Given the description of an element on the screen output the (x, y) to click on. 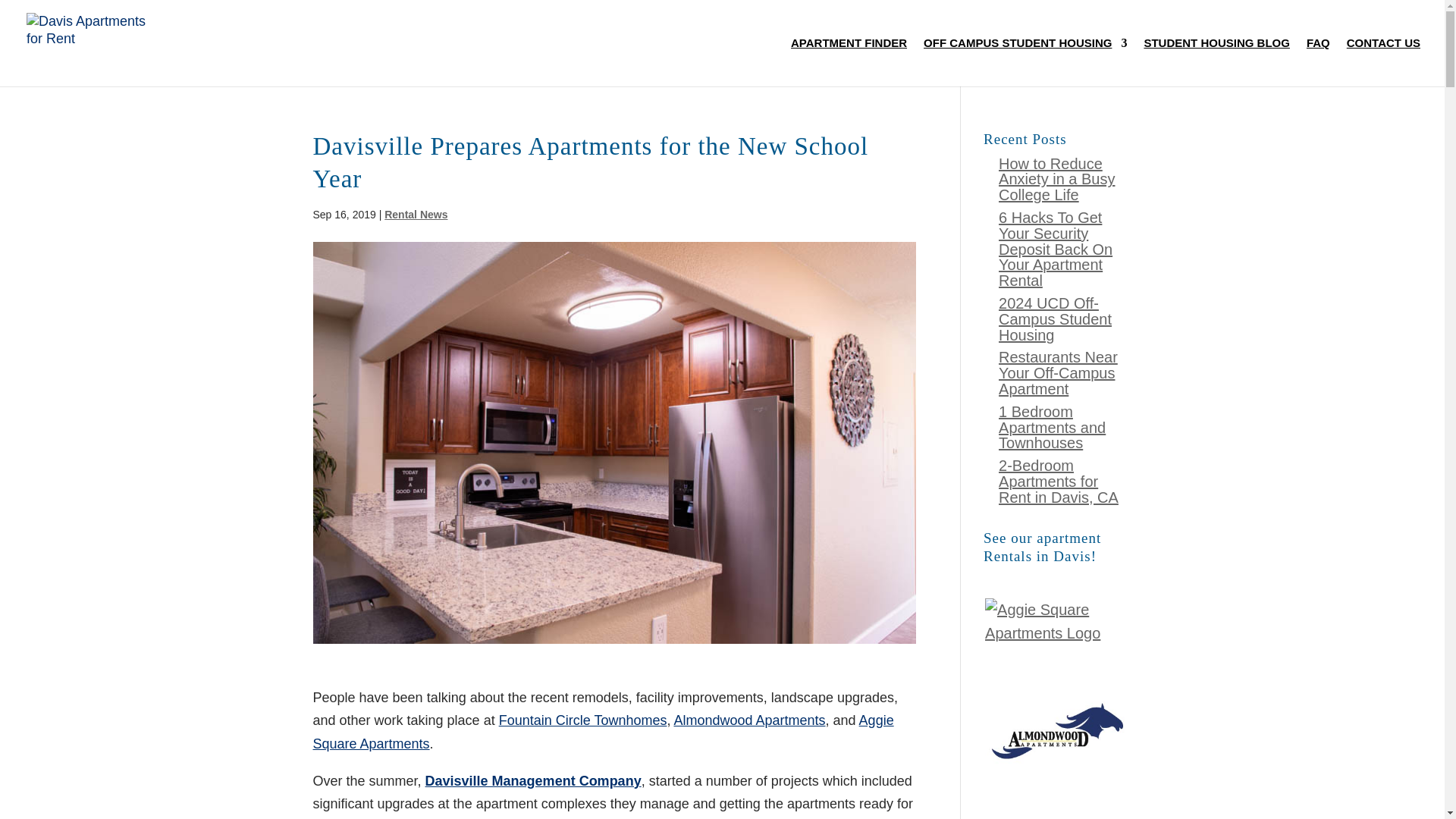
Rental News (415, 214)
STUDENT HOUSING BLOG (1216, 61)
2024 UCD Off-Campus Student Housing (1055, 318)
Restaurants Near Your Off-Campus Apartment (1058, 372)
Fountain Circle Townhomes (582, 720)
APARTMENT FINDER (848, 61)
How to Reduce Anxiety in a Busy College Life (1056, 179)
CONTACT US (1383, 61)
Aggie Square Apartments (603, 731)
